Given the description of an element on the screen output the (x, y) to click on. 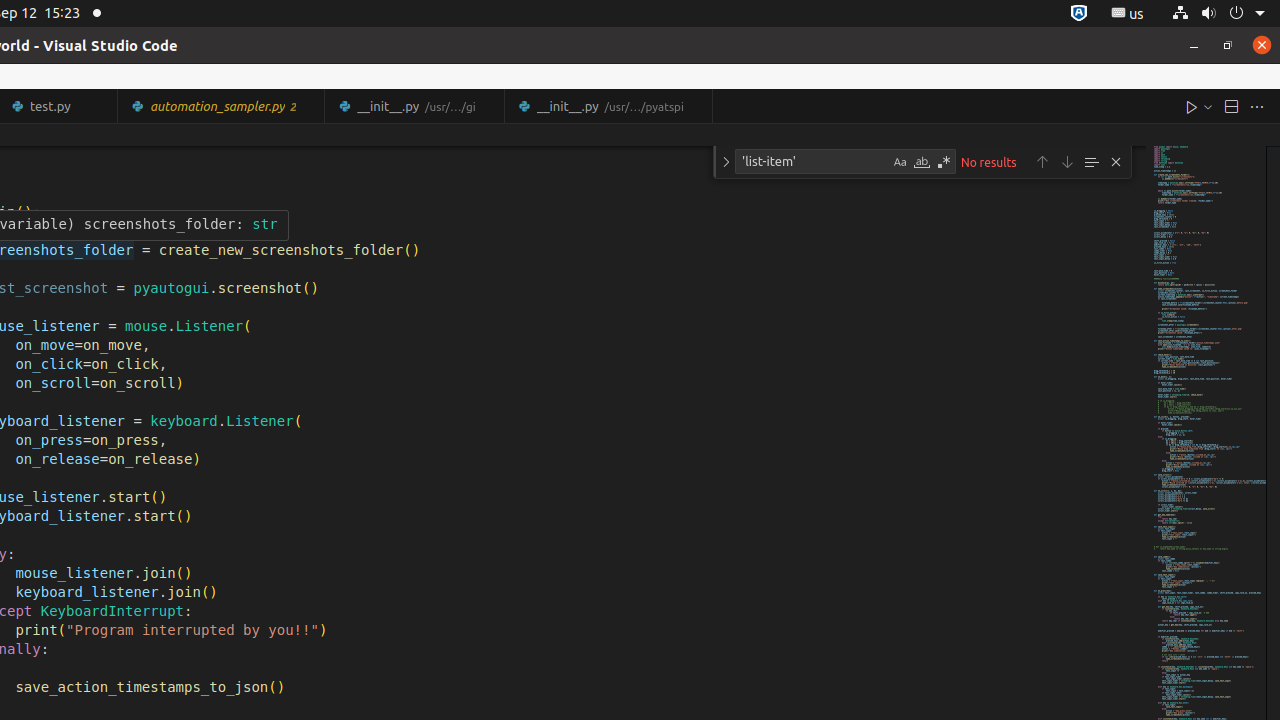
Split Editor Right (Ctrl+\) [Alt] Split Editor Down Element type: push-button (1231, 106)
More Actions... Element type: push-button (1257, 106)
Close (Escape) Element type: push-button (1116, 162)
Use Regular Expression (Alt+R) Element type: check-box (944, 162)
Match Whole Word (Alt+W) Element type: check-box (922, 162)
